Given the description of an element on the screen output the (x, y) to click on. 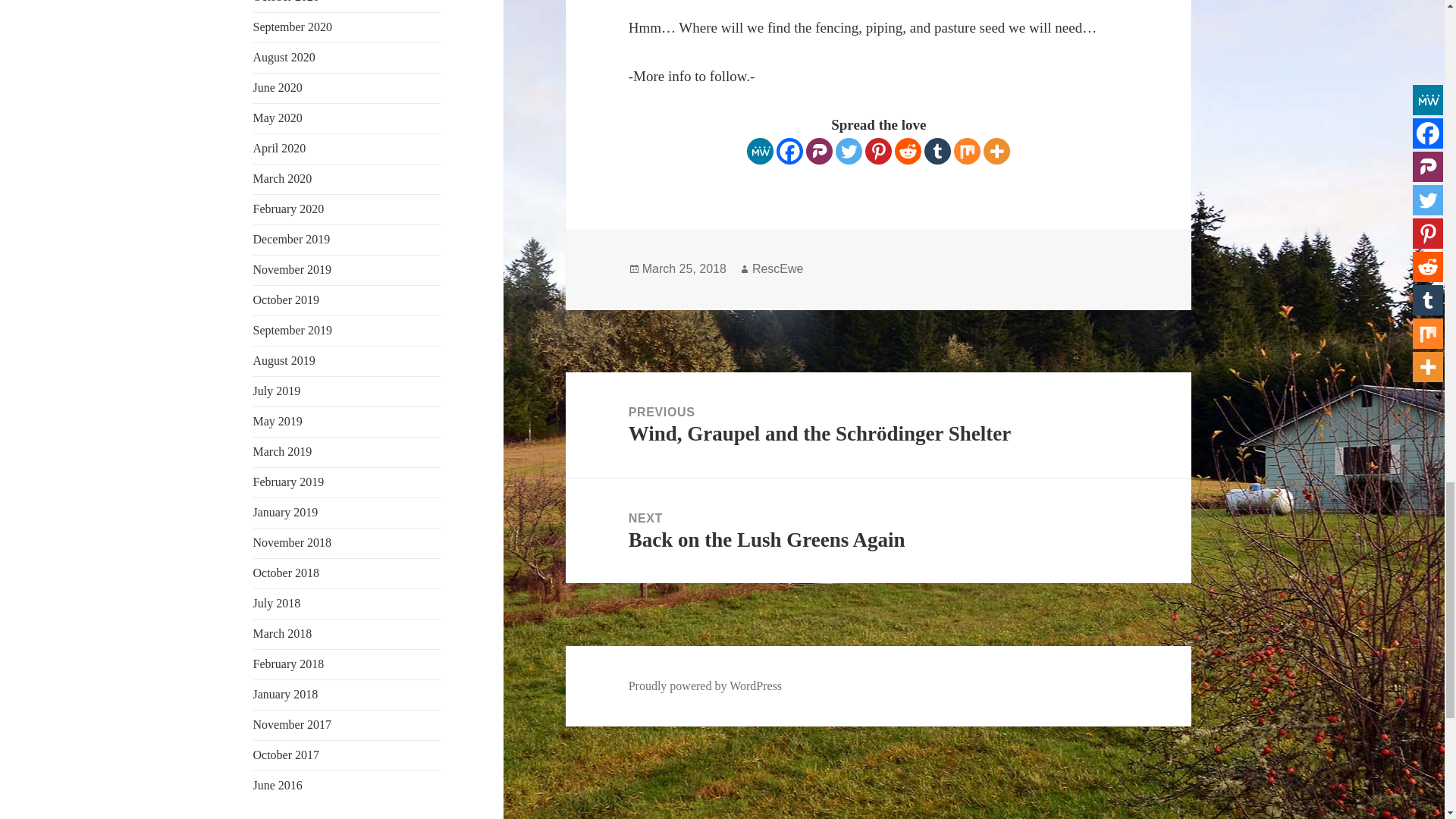
August 2020 (284, 56)
June 2020 (277, 87)
Parler (819, 151)
Tumblr (937, 151)
Twitter (848, 151)
Pinterest (877, 151)
Mix (966, 151)
April 2020 (279, 147)
September 2020 (292, 26)
May 2020 (277, 117)
Facebook (789, 151)
Reddit (908, 151)
October 2020 (286, 1)
More (997, 151)
MeWe (759, 151)
